Given the description of an element on the screen output the (x, y) to click on. 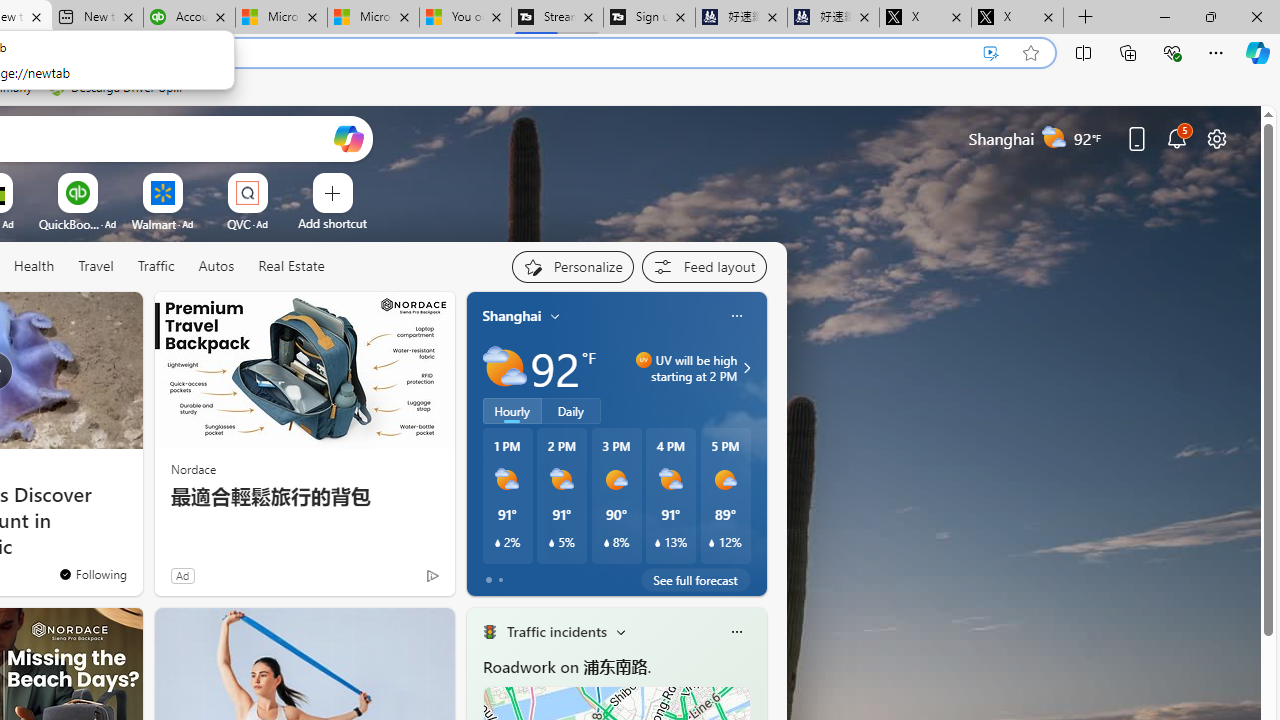
Travel (95, 265)
